Given the description of an element on the screen output the (x, y) to click on. 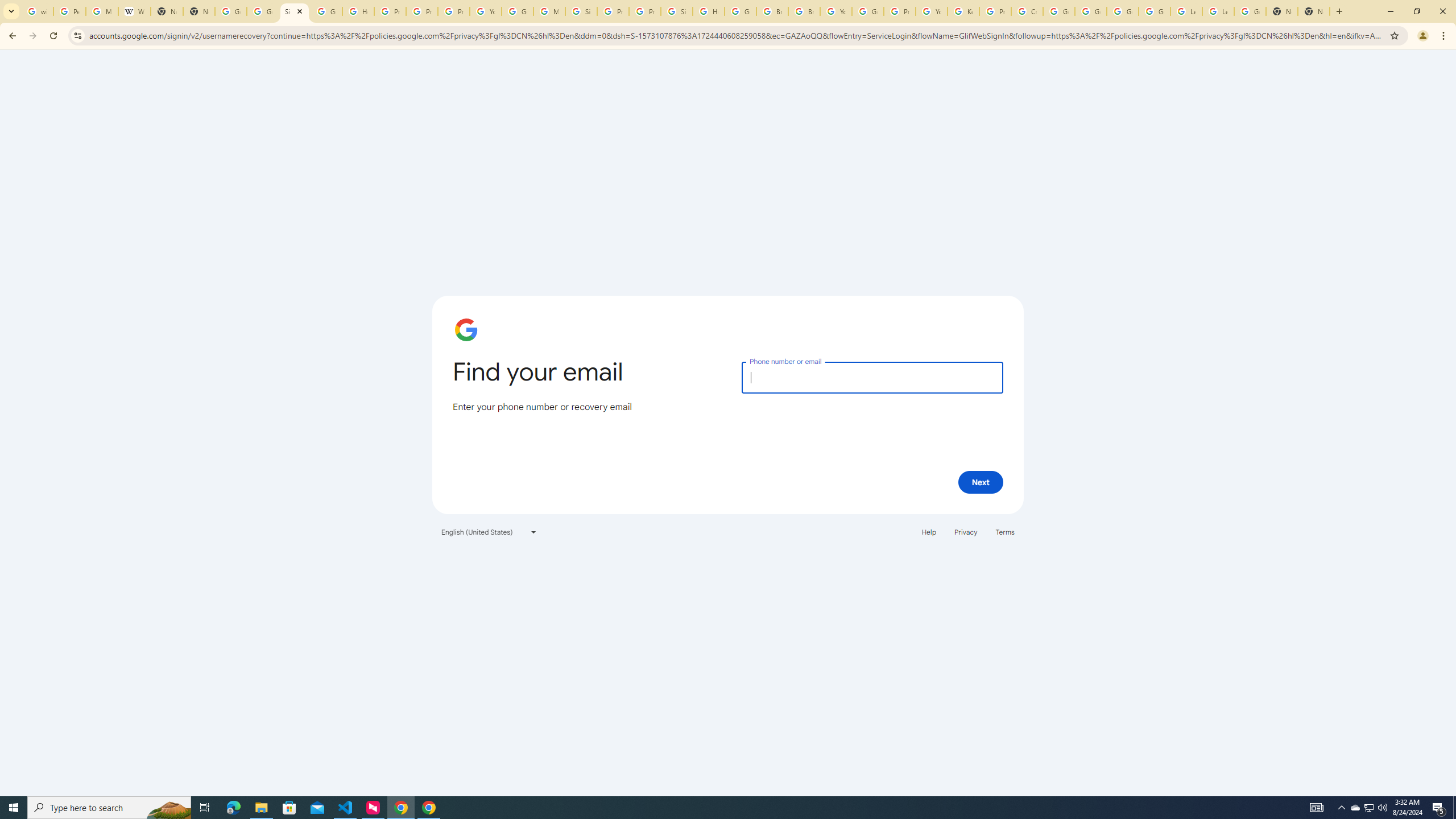
Create your Google Account (1027, 11)
Google Account Help (1123, 11)
Brand Resource Center (772, 11)
Phone number or email (871, 376)
Personalization & Google Search results - Google Search Help (69, 11)
Next (980, 481)
Google Account (1249, 11)
Help (928, 531)
